Given the description of an element on the screen output the (x, y) to click on. 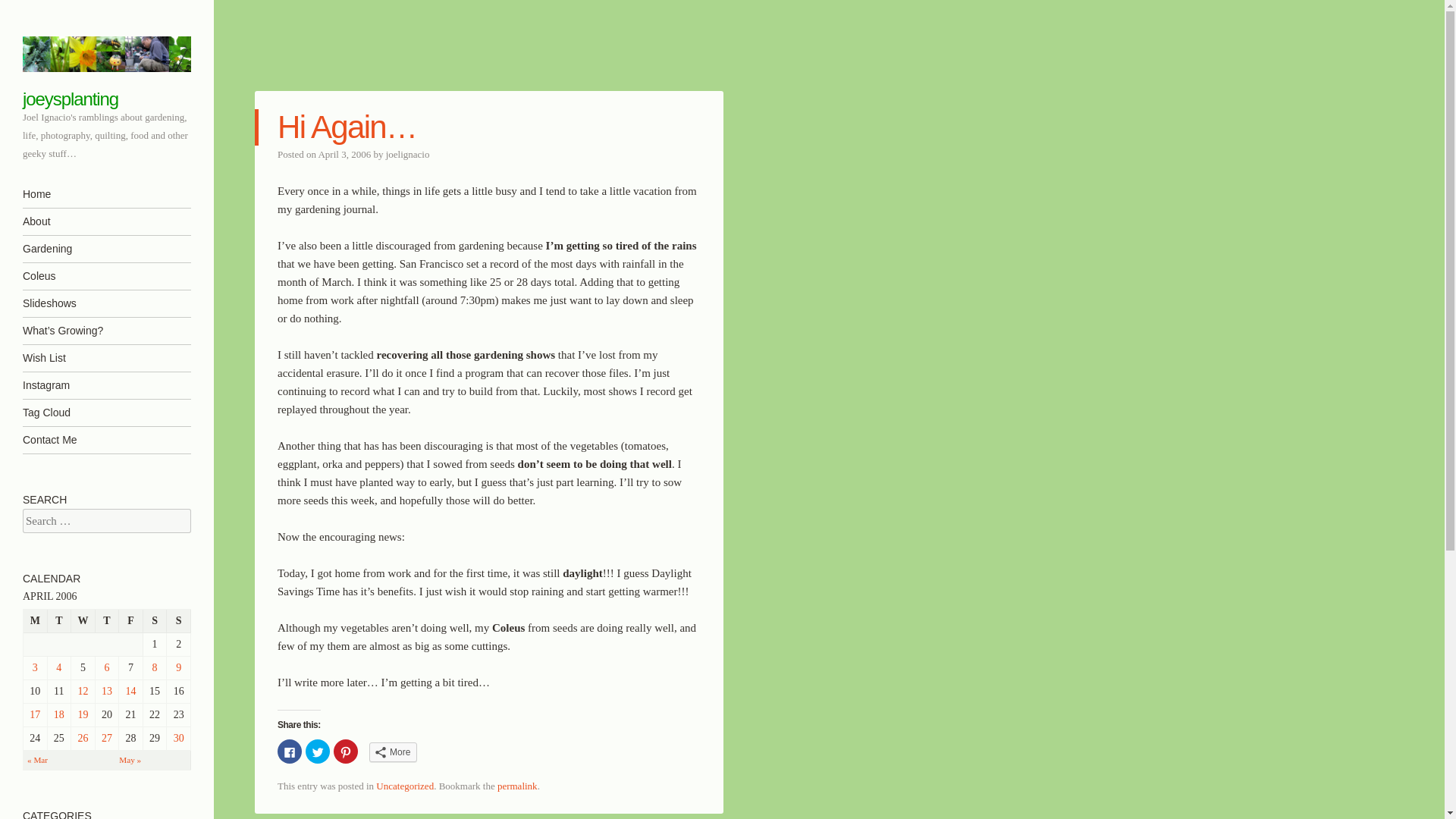
Click to share on Twitter (317, 751)
permalink (517, 785)
Skip to content (58, 194)
joelignacio (407, 153)
About (106, 221)
Skip to content (58, 194)
joeysplanting (70, 98)
Search (32, 11)
Gardening (106, 248)
Tag Cloud (106, 412)
Wish List (106, 357)
joeysplanting (106, 54)
11:47 pm (344, 153)
Coleus (106, 275)
April 3, 2006 (344, 153)
